Given the description of an element on the screen output the (x, y) to click on. 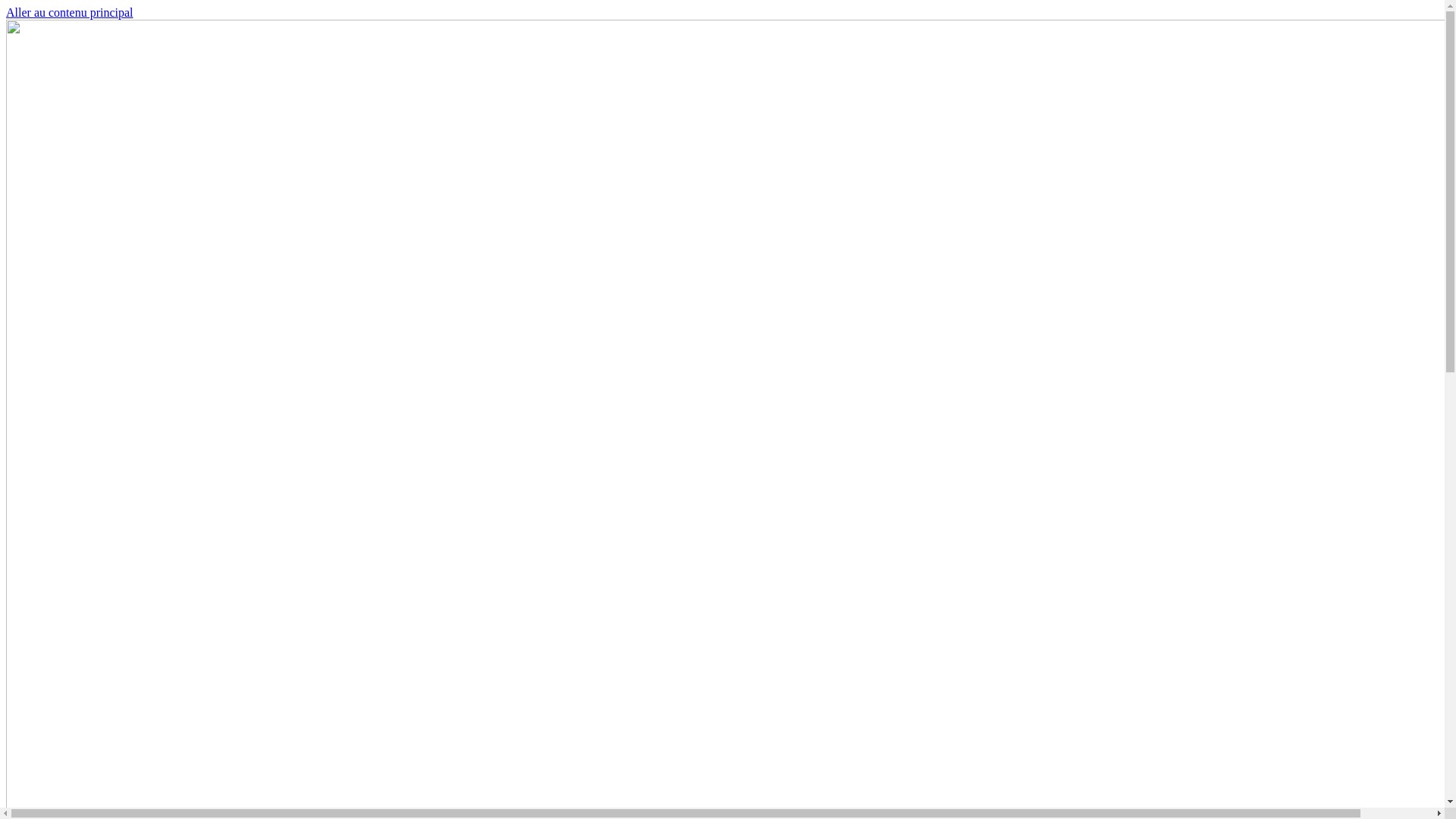
Aller au contenu principal Element type: text (69, 12)
